Given the description of an element on the screen output the (x, y) to click on. 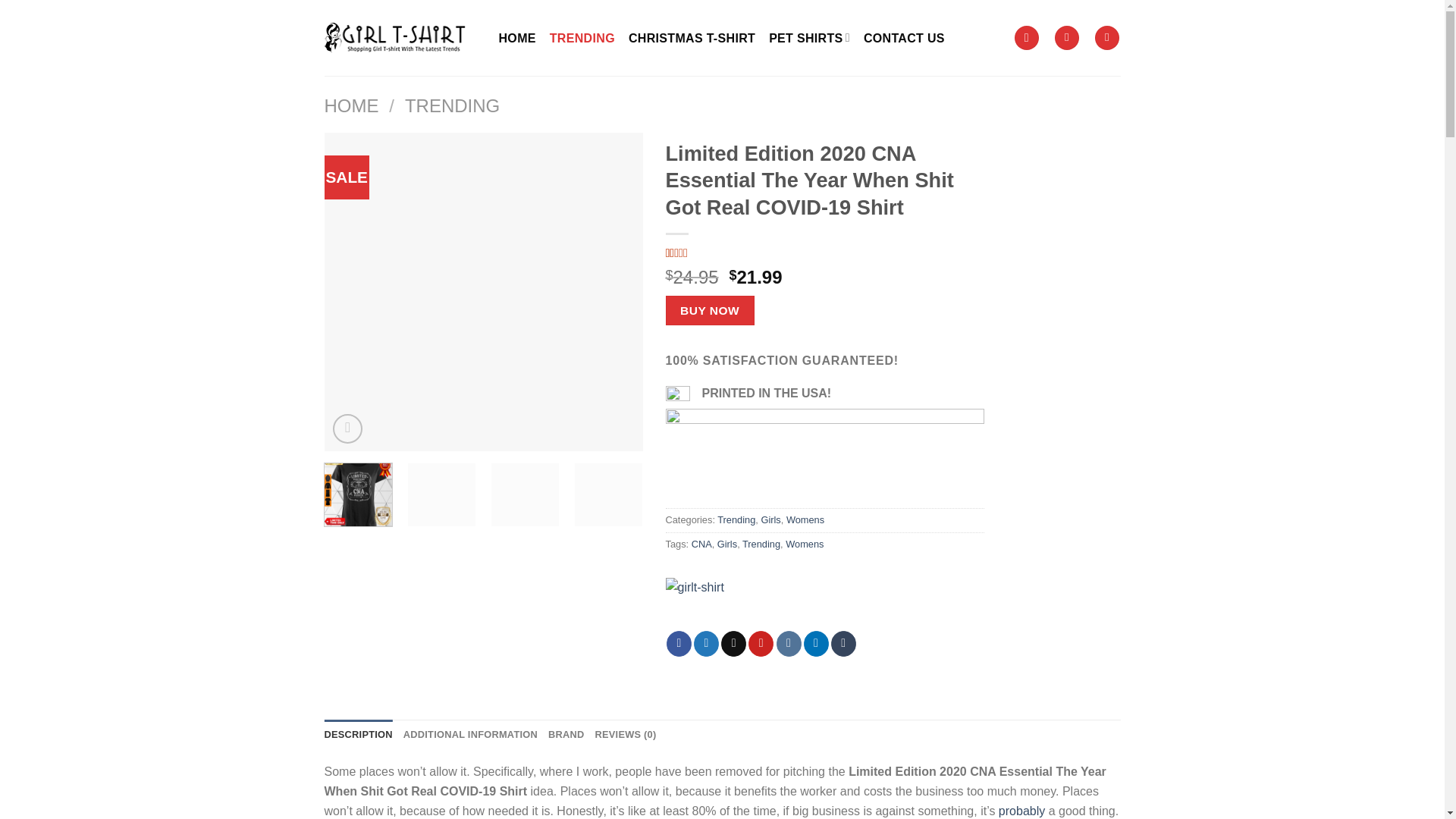
CHRISTMAS T-SHIRT (691, 37)
Girl T-shirt (714, 604)
Share on Twitter (706, 643)
Womens (805, 519)
BUY NOW (709, 310)
Email to a Friend (732, 643)
Girl T-shirt - Shopping Girl T-shirt With The Latest Trends (400, 37)
Trending (736, 519)
Zoom (347, 428)
